Given the description of an element on the screen output the (x, y) to click on. 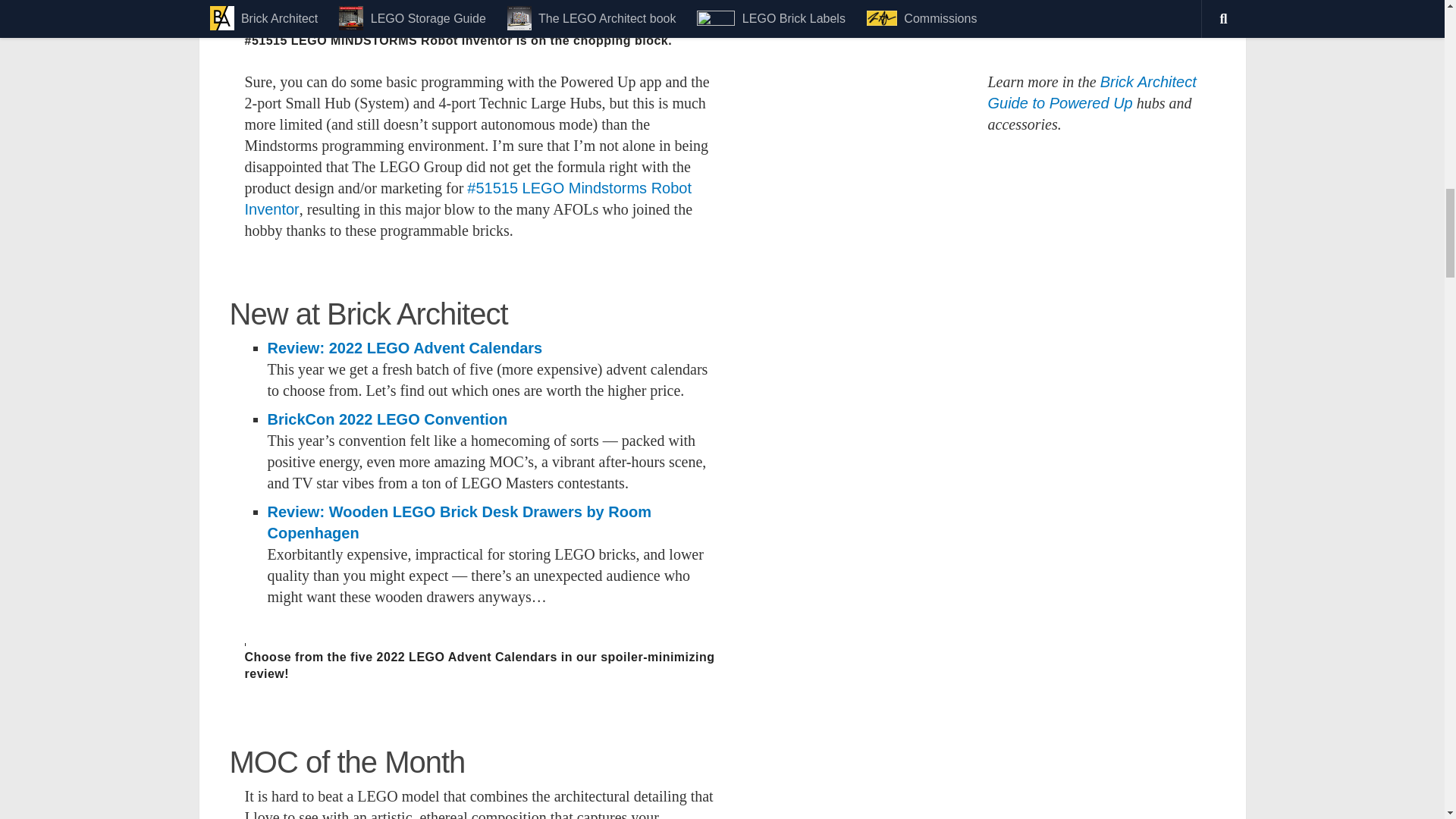
Brick Architect Guide to Powered Up (1091, 92)
Review: 2022 LEGO Advent Calendars (403, 347)
Review: Wooden LEGO Brick Desk Drawers by Room Copenhagen (458, 522)
BrickCon 2022 LEGO Convention (386, 419)
